Given the description of an element on the screen output the (x, y) to click on. 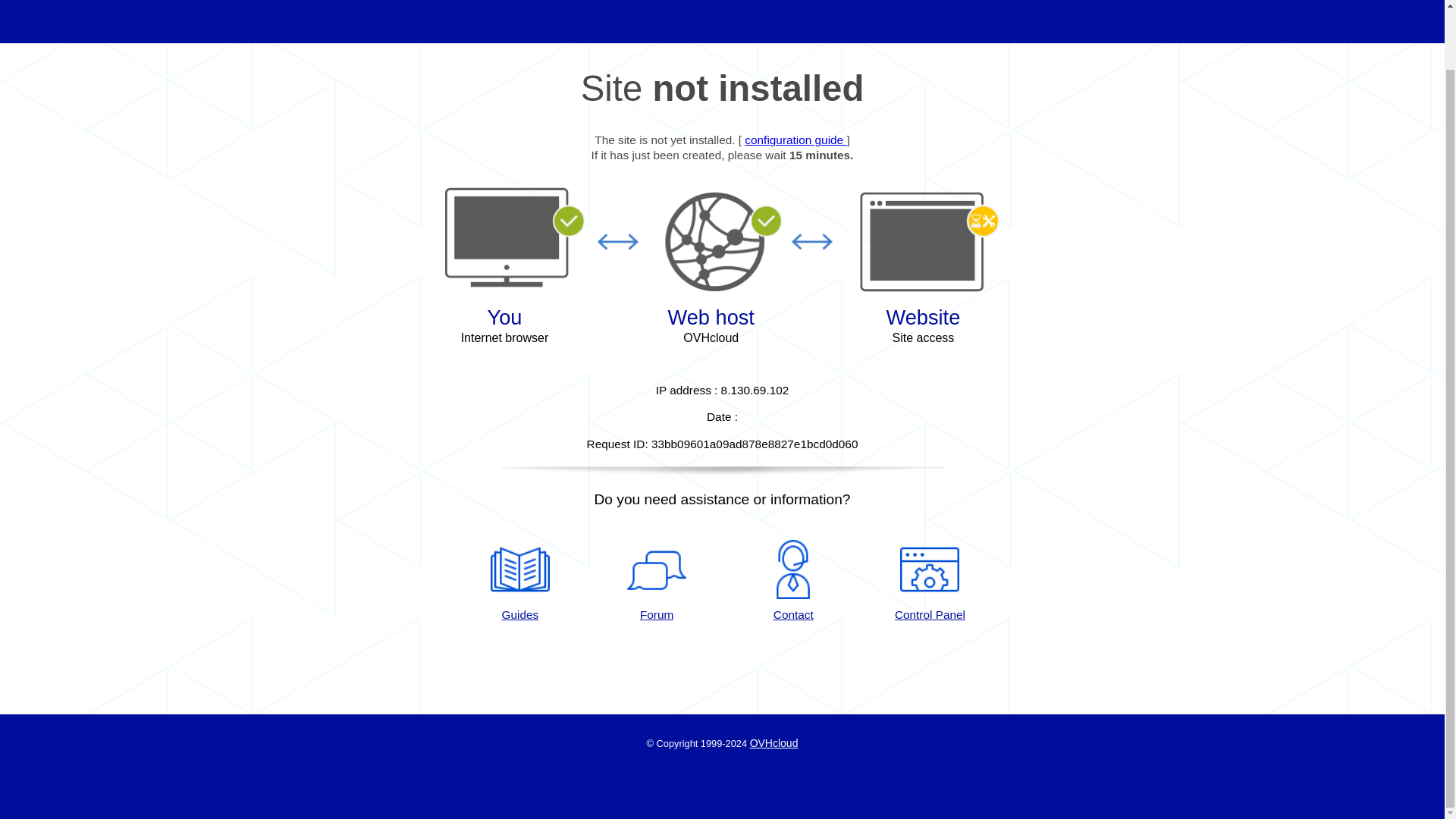
Control Panel (930, 581)
Control Panel (930, 581)
Forum (656, 581)
Guides (794, 139)
Forum (656, 581)
configuration guide (794, 139)
Contact (793, 581)
Contact (793, 581)
OVHcloud (773, 743)
Guides (519, 581)
